Given the description of an element on the screen output the (x, y) to click on. 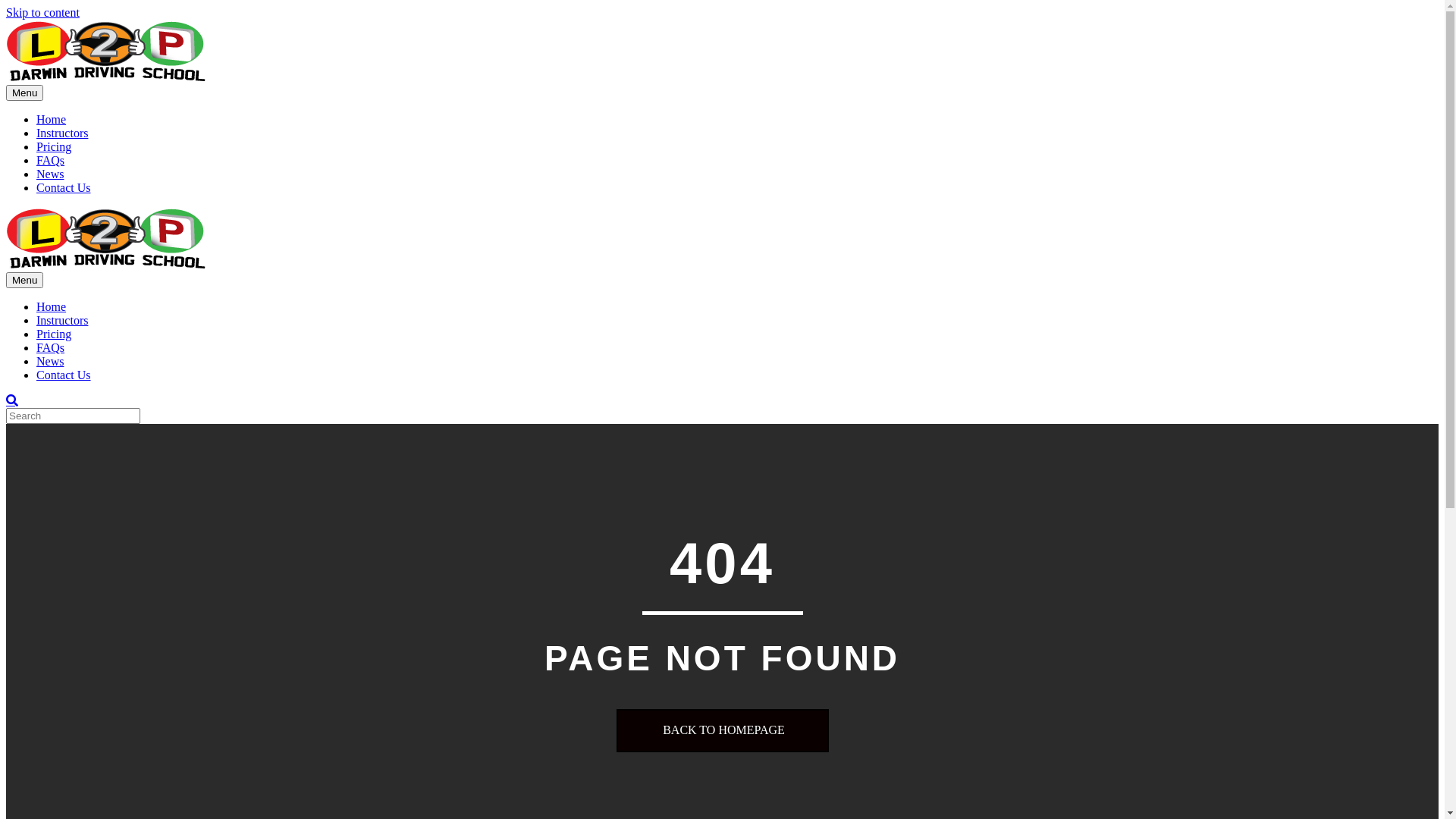
Instructors Element type: text (61, 319)
News Element type: text (49, 360)
Menu Element type: text (24, 280)
News Element type: text (49, 173)
FAQs Element type: text (50, 347)
Type and press Enter to search. Element type: hover (722, 415)
Skip to content Element type: text (42, 12)
Contact Us Element type: text (63, 187)
Home Element type: text (50, 306)
Menu Element type: text (24, 92)
Pricing Element type: text (53, 146)
Home Element type: text (50, 118)
Pricing Element type: text (53, 333)
Instructors Element type: text (61, 132)
FAQs Element type: text (50, 159)
BACK TO HOMEPAGE Element type: text (721, 730)
Contact Us Element type: text (63, 374)
